Given the description of an element on the screen output the (x, y) to click on. 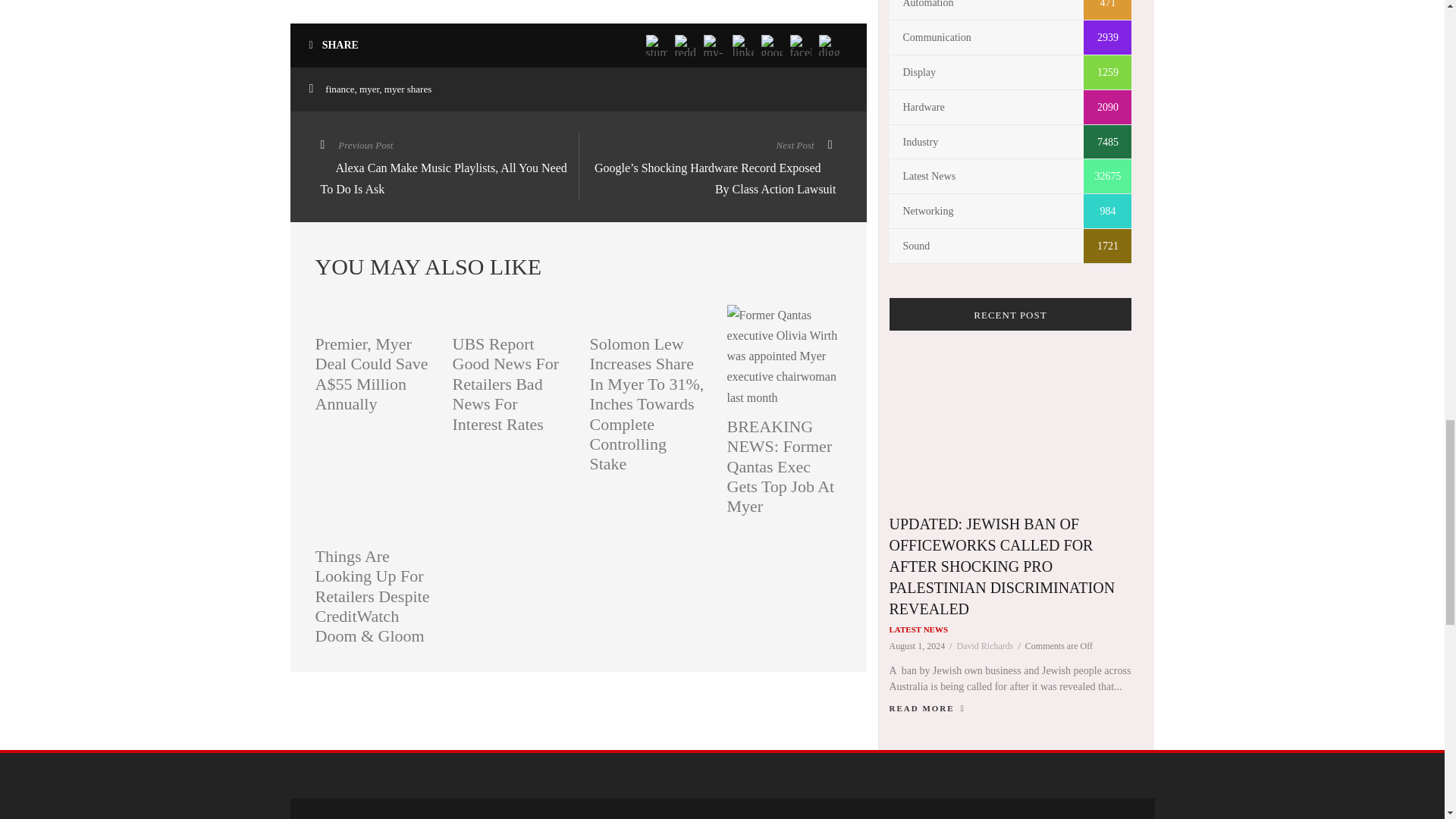
Posts by David Richards (984, 645)
